Given the description of an element on the screen output the (x, y) to click on. 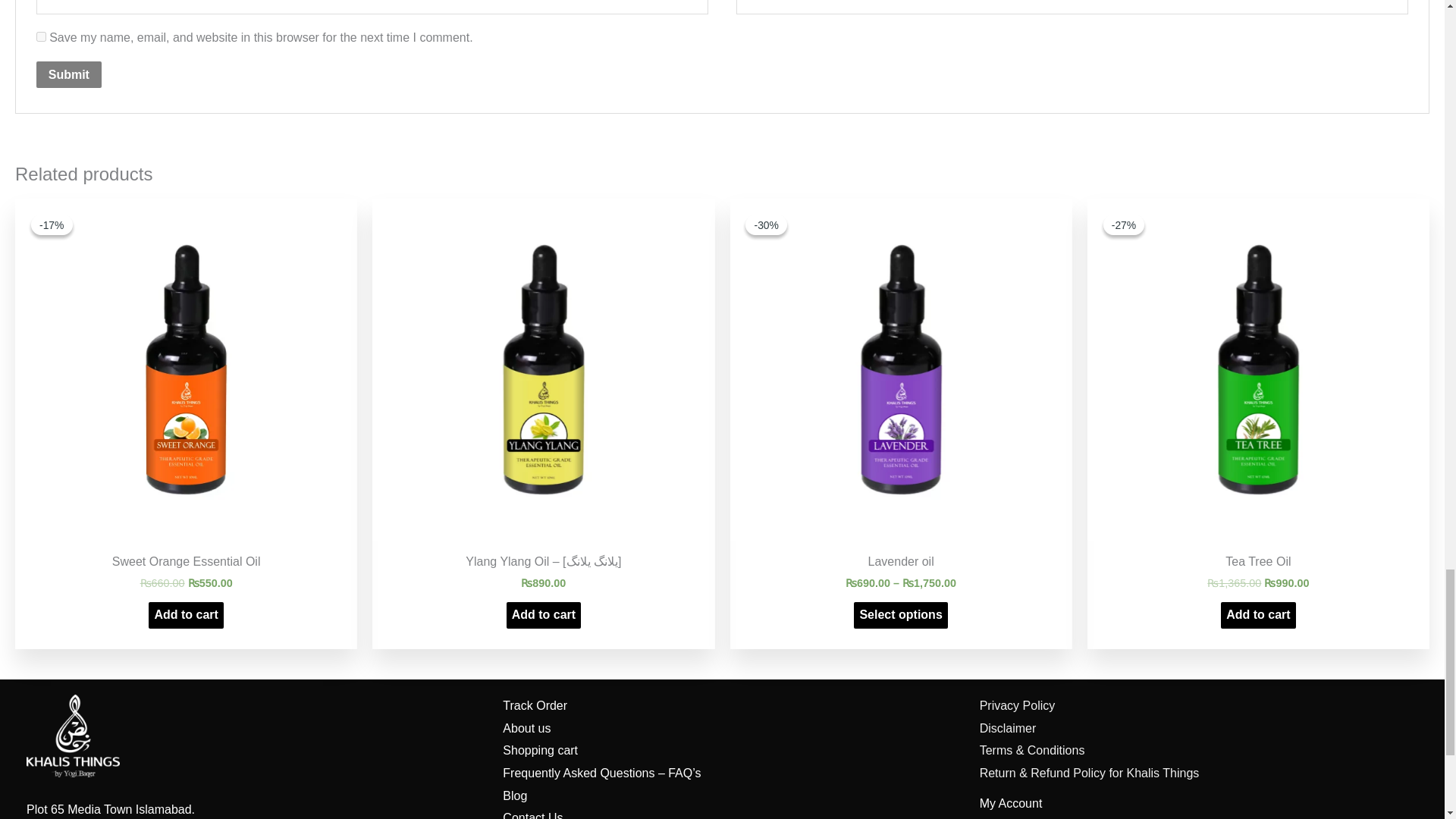
Submit (68, 74)
yes (41, 36)
